Given the description of an element on the screen output the (x, y) to click on. 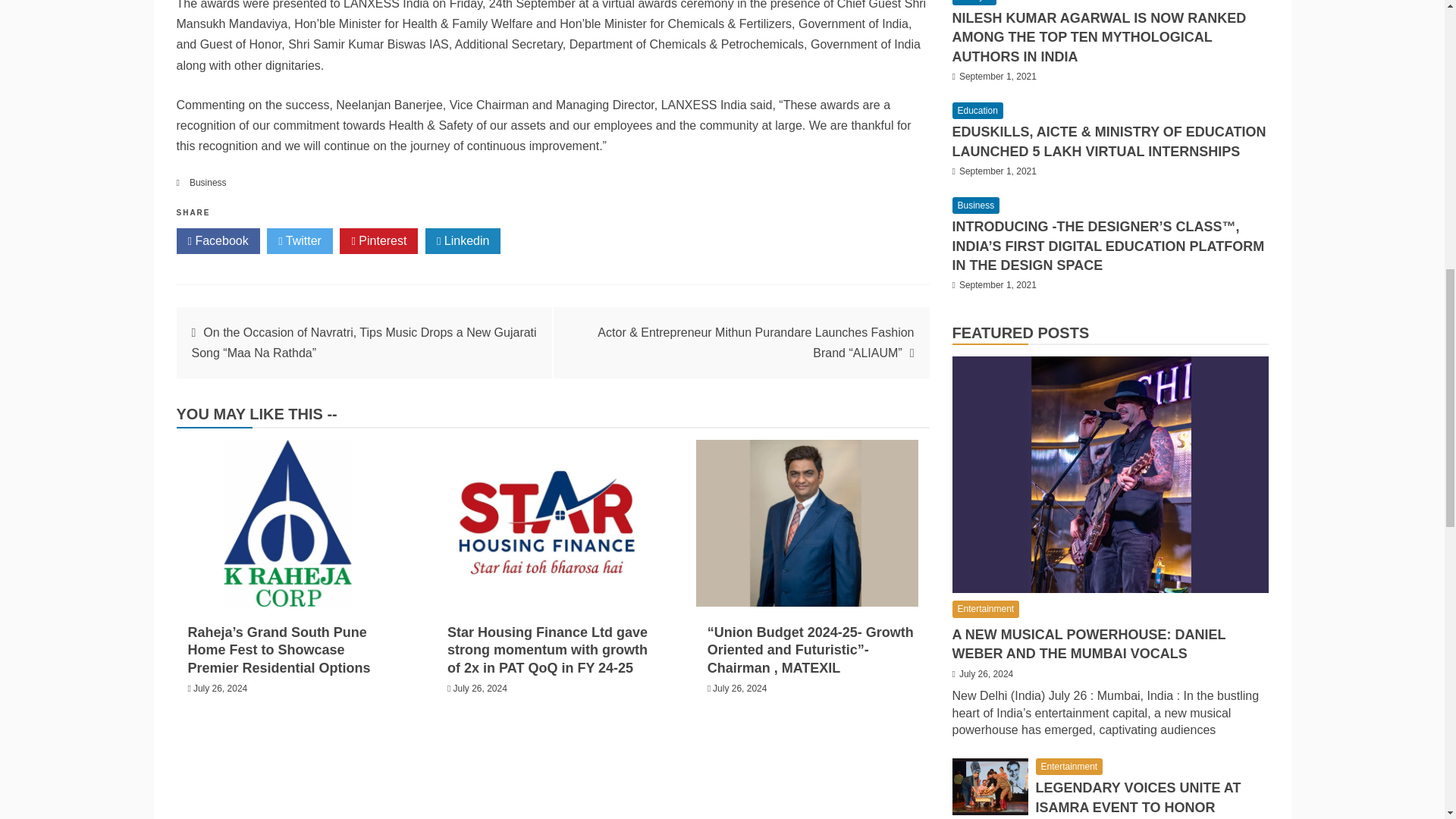
Linkedin (462, 240)
Business (208, 182)
Pinterest (378, 240)
Facebook (217, 240)
Twitter (299, 240)
